Given the description of an element on the screen output the (x, y) to click on. 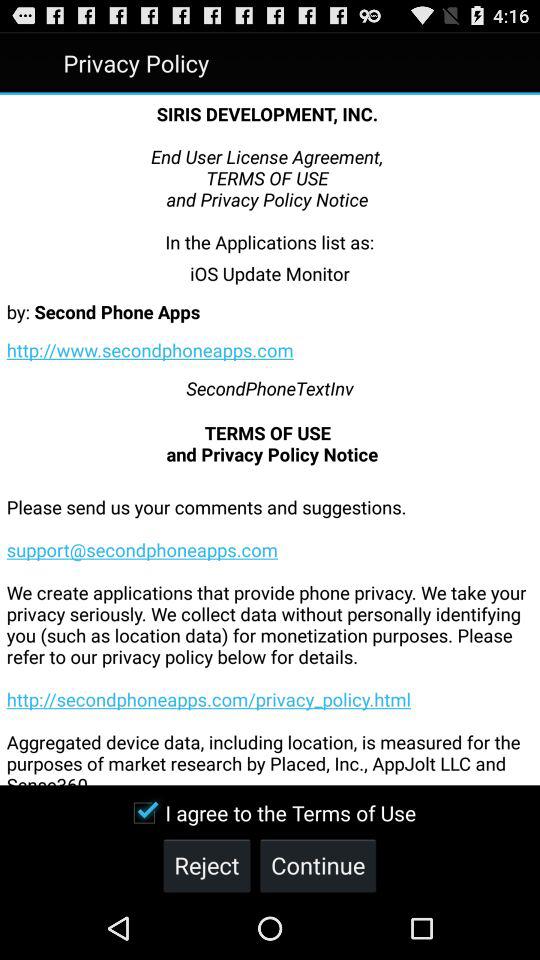
press icon below please send us item (269, 812)
